Given the description of an element on the screen output the (x, y) to click on. 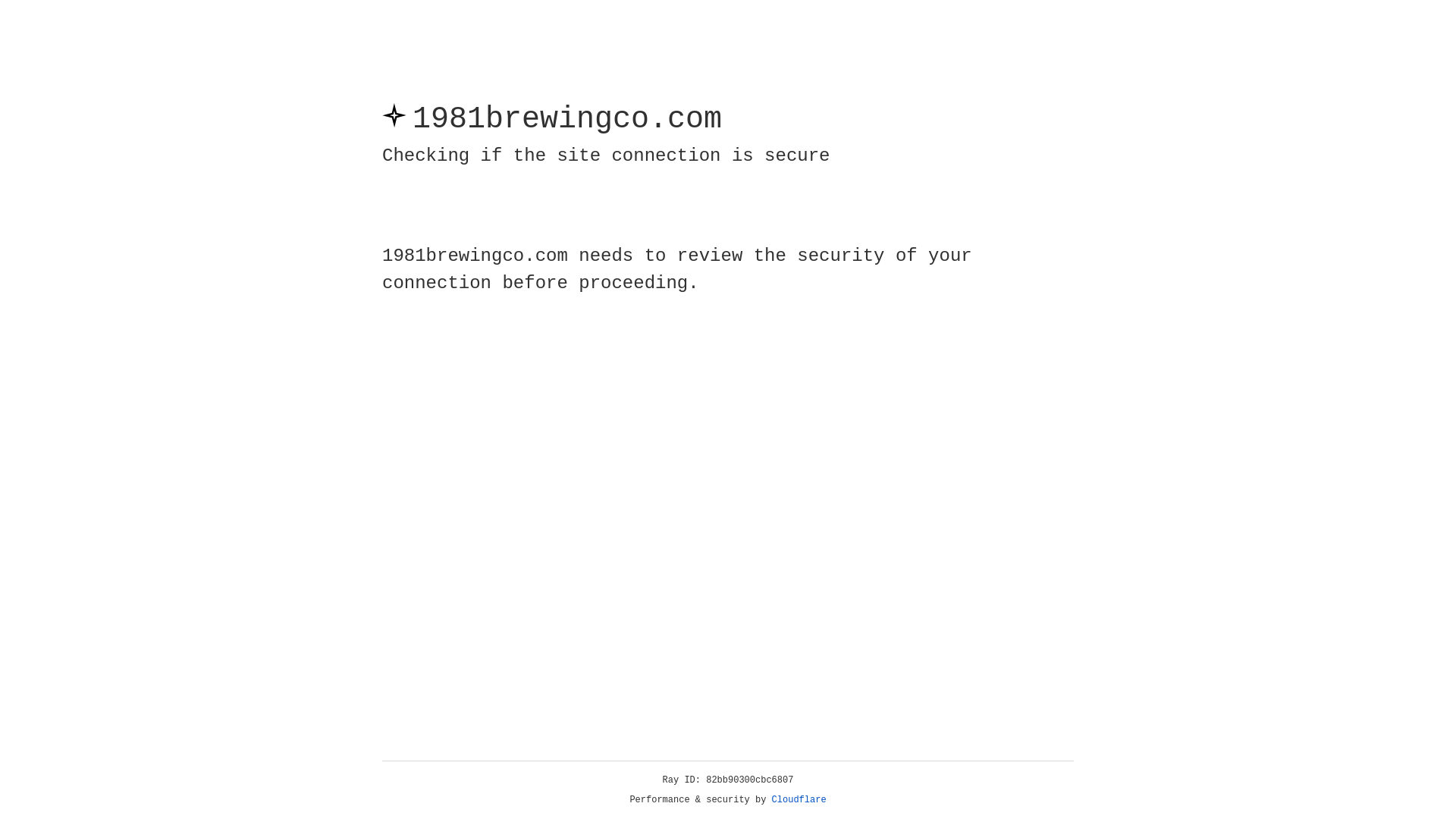
Cloudflare Element type: text (798, 799)
